Given the description of an element on the screen output the (x, y) to click on. 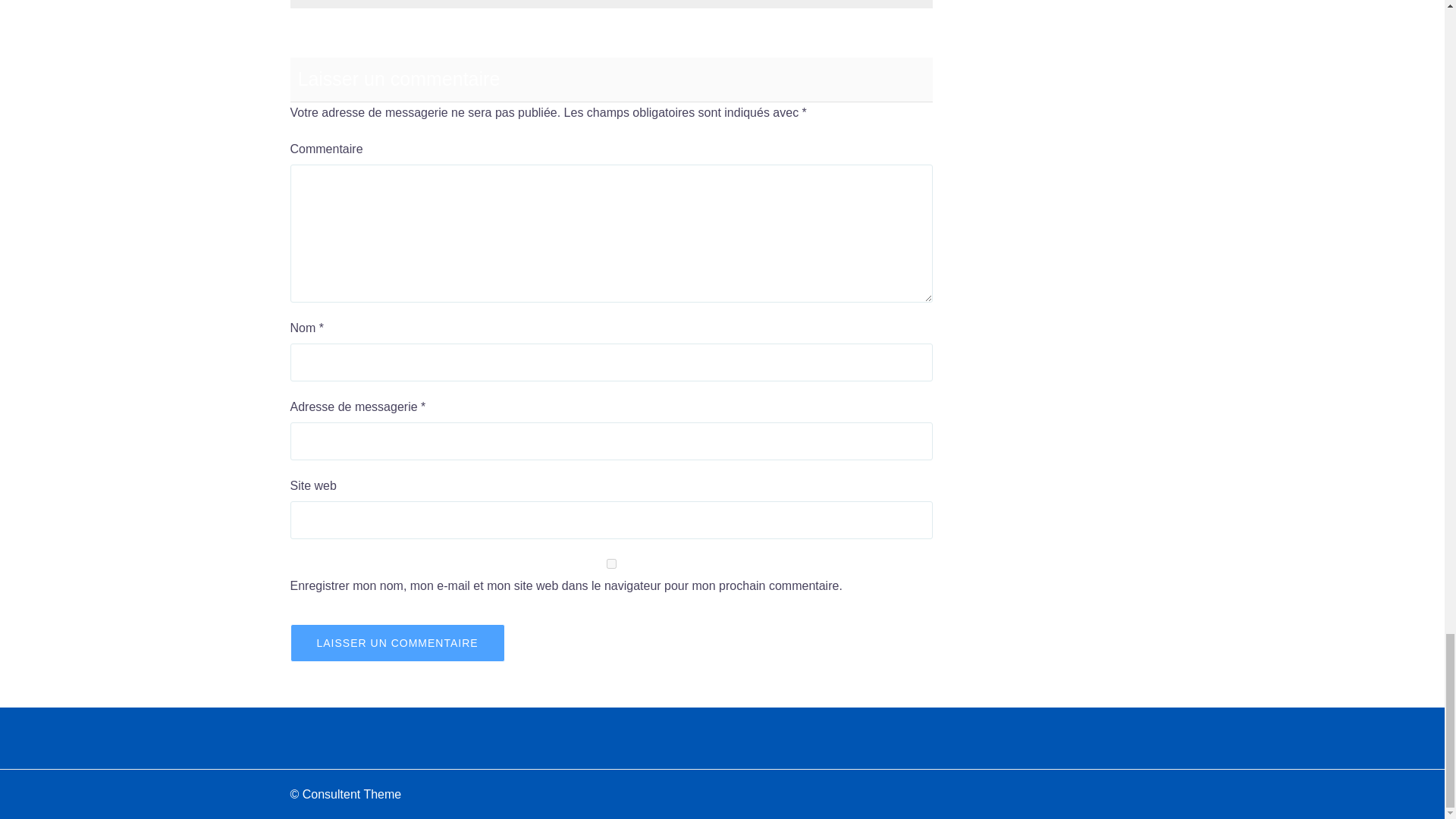
Laisser un commentaire (396, 642)
yes (611, 563)
